Given the description of an element on the screen output the (x, y) to click on. 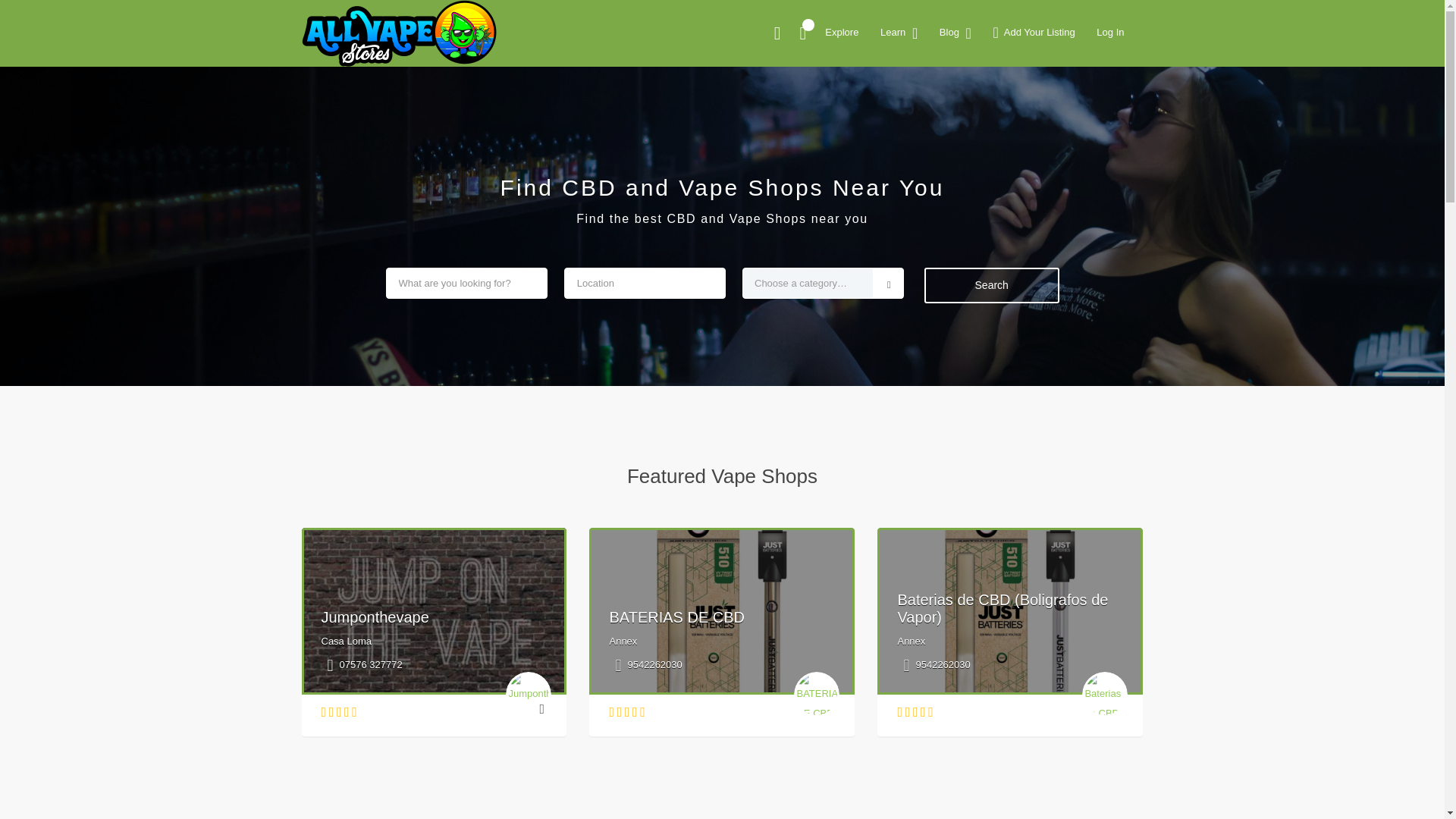
Search (1050, 85)
Privacy Policy (999, 306)
Search (1050, 85)
Search for: (1049, 47)
RSS (977, 612)
June 2020 (990, 432)
Blog (976, 510)
ADMINISTRATOR (417, 118)
Instagram (737, 181)
Log in (980, 588)
Disclaimer (990, 354)
Search (1050, 85)
Terms of Use (996, 330)
Skip to content (34, 9)
Contact Us (991, 258)
